Given the description of an element on the screen output the (x, y) to click on. 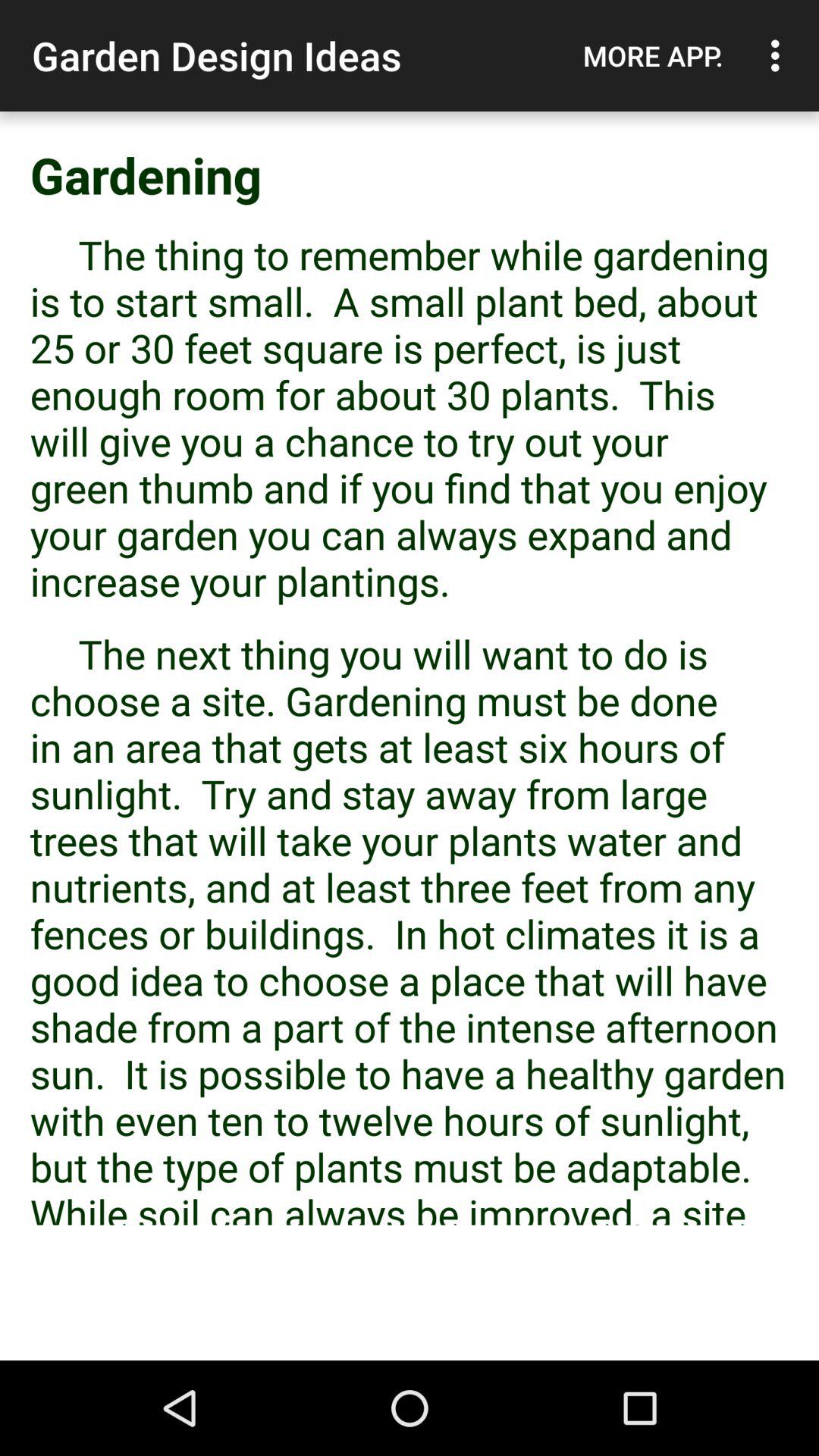
press more app. (653, 55)
